Given the description of an element on the screen output the (x, y) to click on. 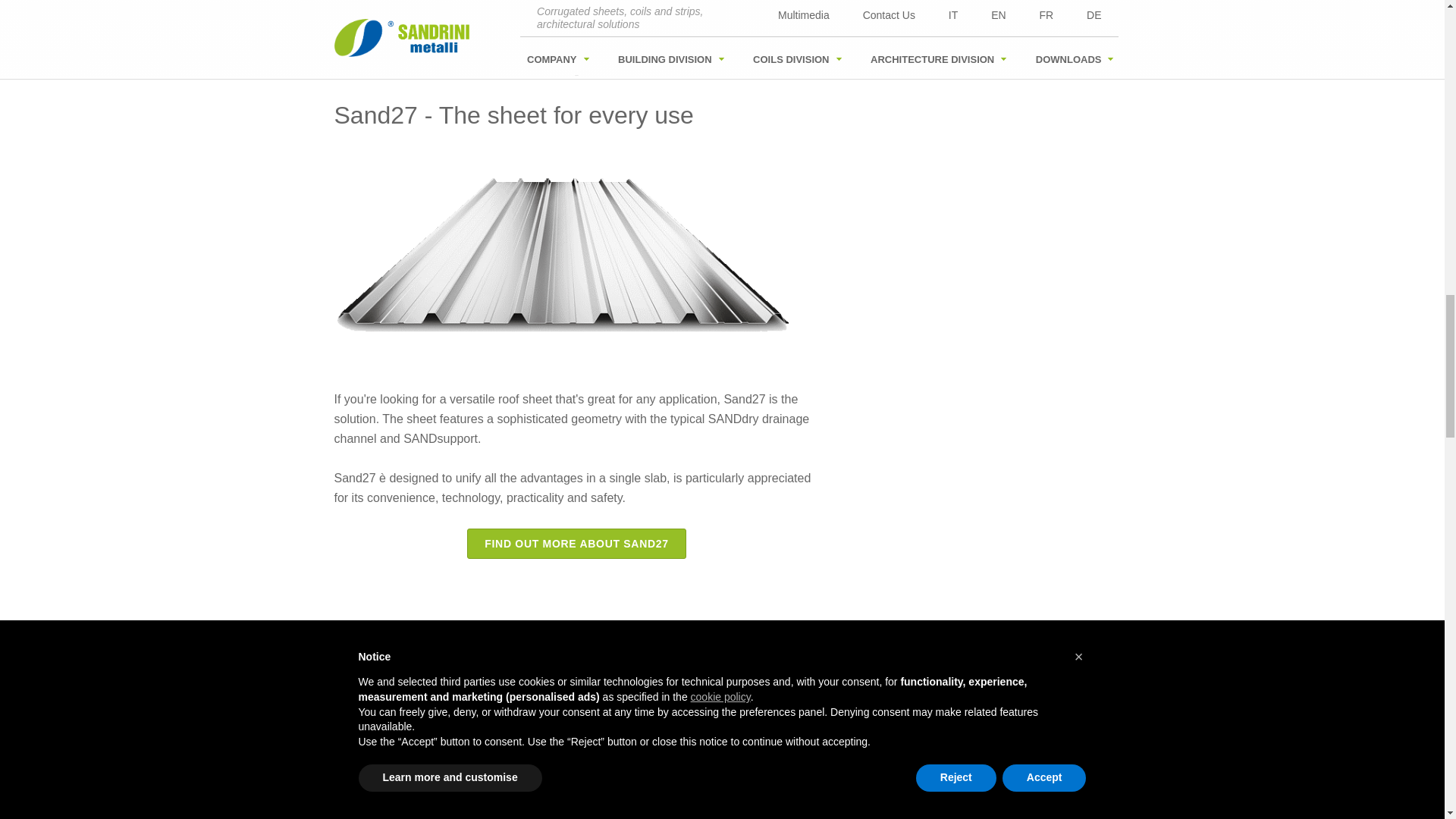
sand35 (561, 736)
sand27 (561, 252)
